Given the description of an element on the screen output the (x, y) to click on. 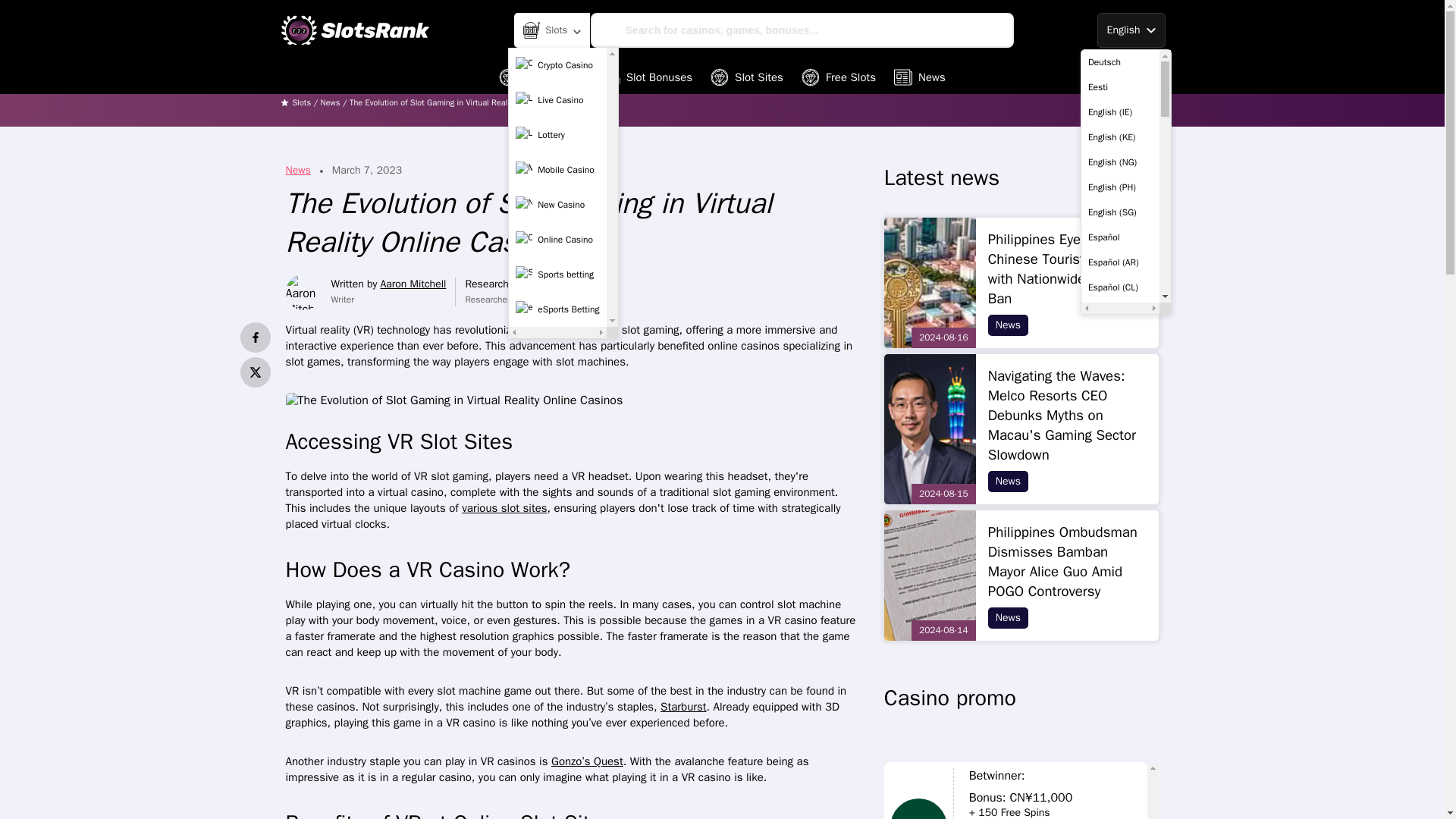
Online Casino (557, 239)
Sports betting (557, 274)
Deutsch (1120, 62)
Magyar (1120, 512)
eSports Betting (557, 308)
Lottery (557, 134)
Indonesia (1120, 412)
Eesti (1120, 87)
Nederlands (1120, 562)
Crypto Casino (557, 64)
